Given the description of an element on the screen output the (x, y) to click on. 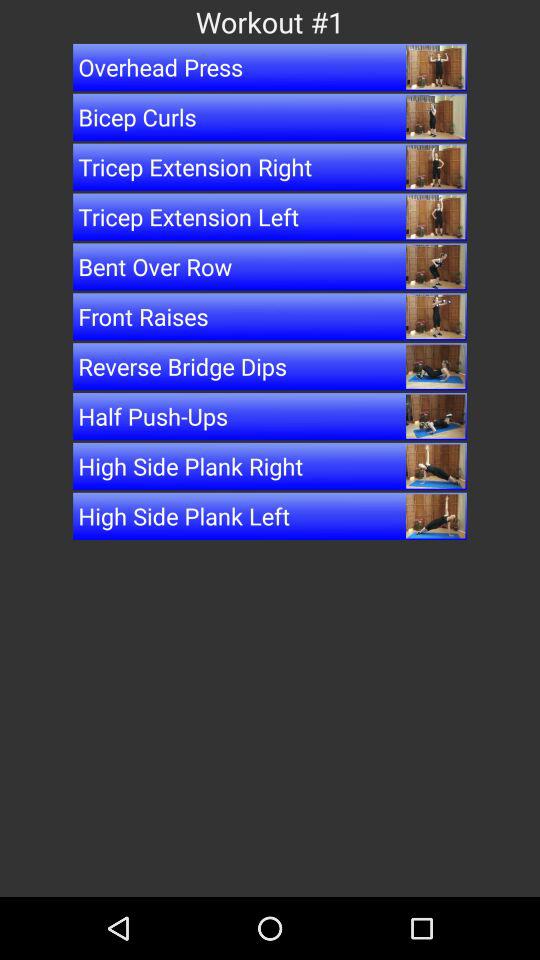
launch button below the reverse bridge dips button (269, 416)
